Given the description of an element on the screen output the (x, y) to click on. 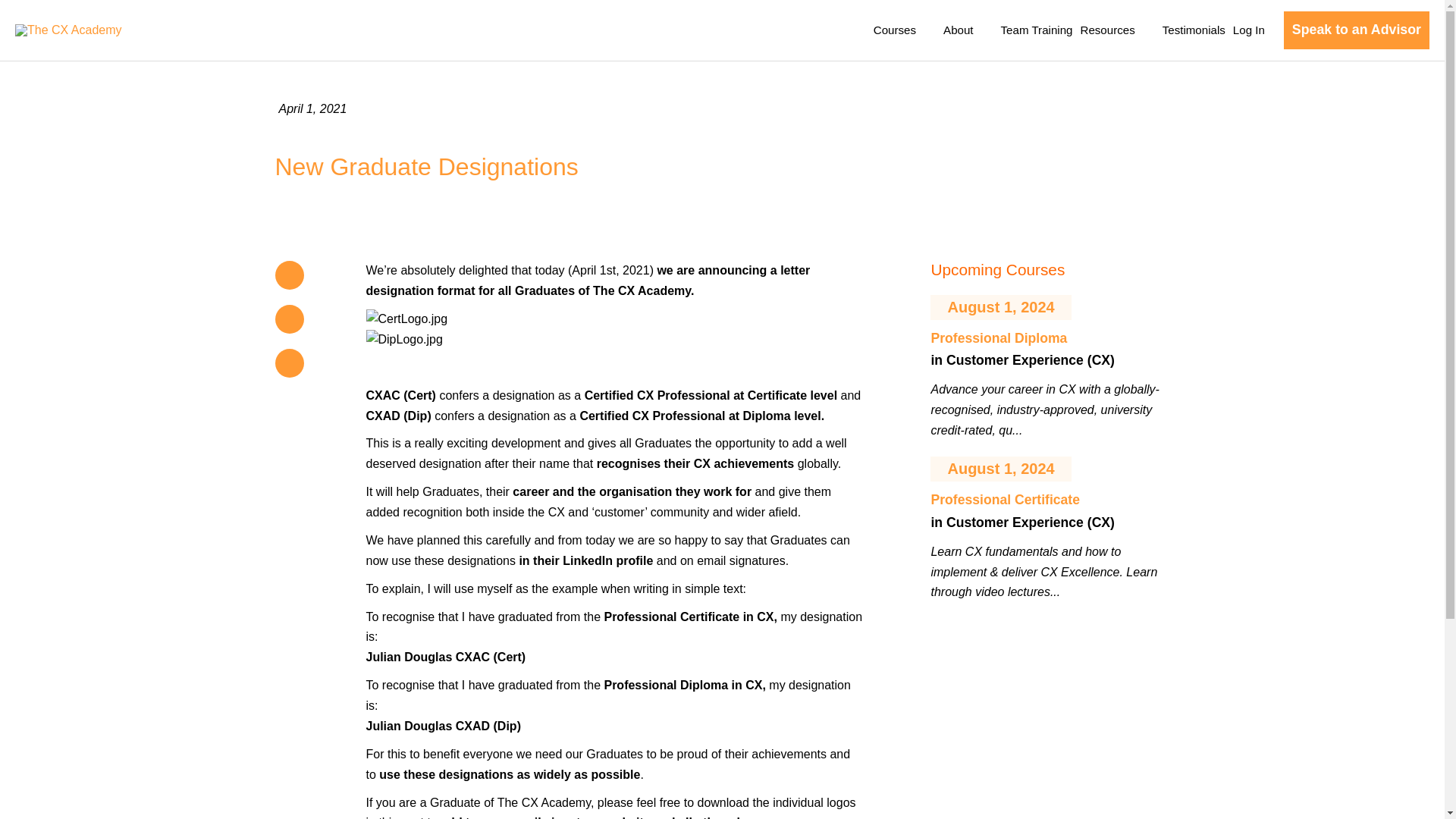
Team Training (1037, 30)
Testimonials (1193, 30)
Speak to an Advisor (1356, 29)
Courses (904, 30)
Resources (1116, 30)
About (968, 30)
